Given the description of an element on the screen output the (x, y) to click on. 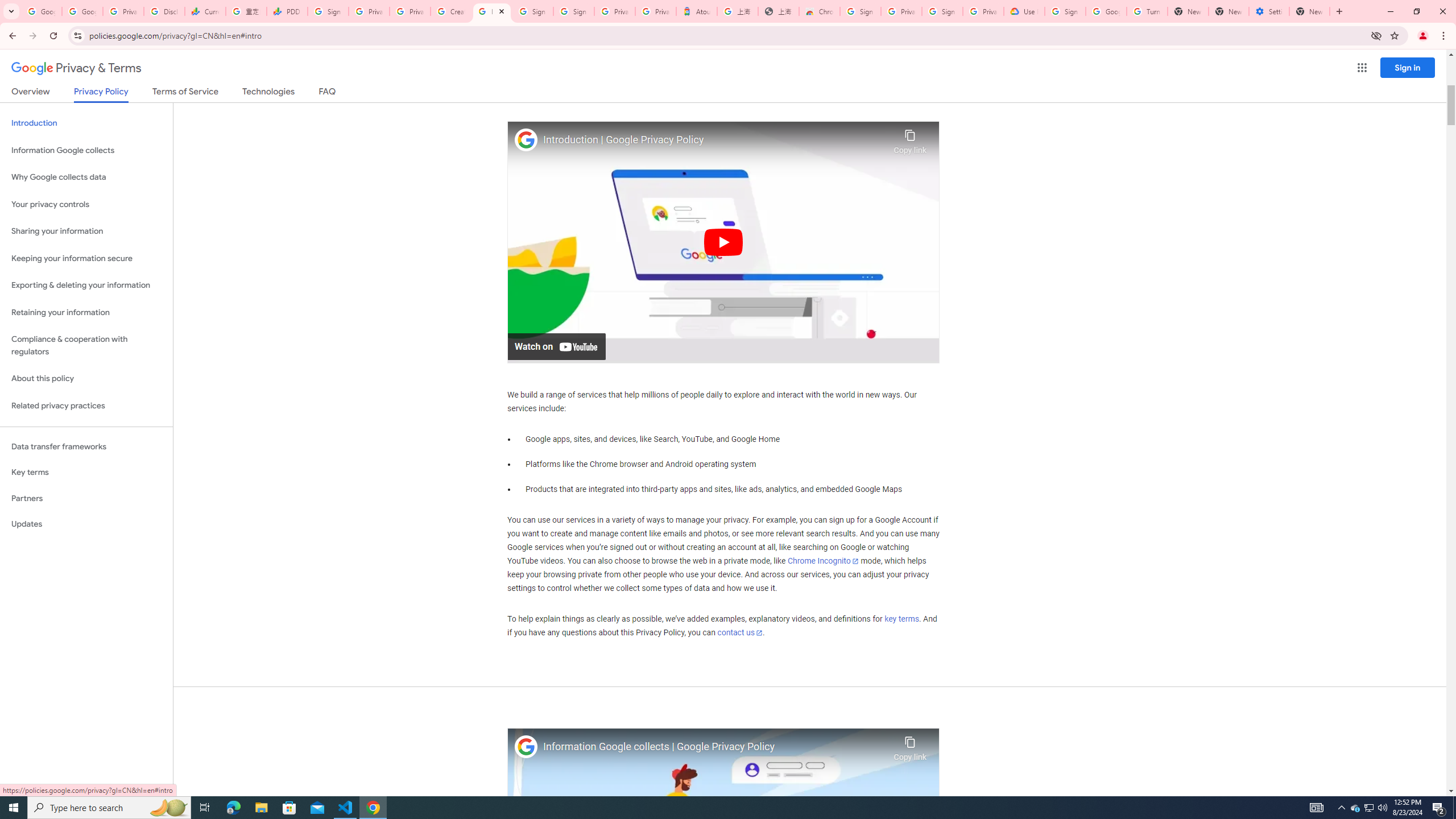
Related privacy practices (86, 405)
Create your Google Account (450, 11)
Play (723, 241)
Turn cookies on or off - Computer - Google Account Help (1146, 11)
